Given the description of an element on the screen output the (x, y) to click on. 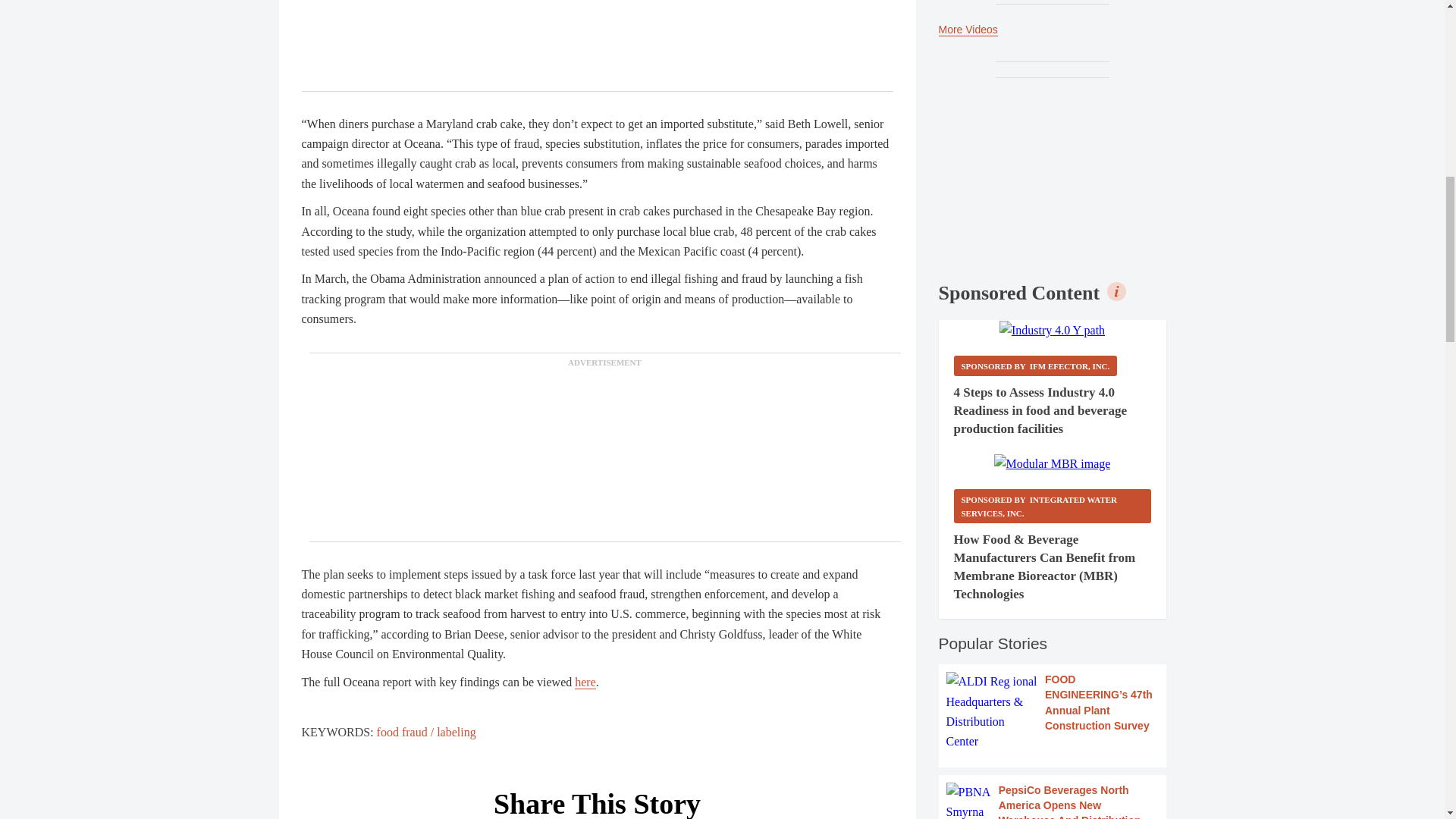
Industry 4.0 Y path (1051, 330)
Modular MBR (1052, 464)
Sponsored by ifm Efector, Inc. (1035, 365)
Sponsored by Integrated Water Services, Inc. (1052, 505)
